Given the description of an element on the screen output the (x, y) to click on. 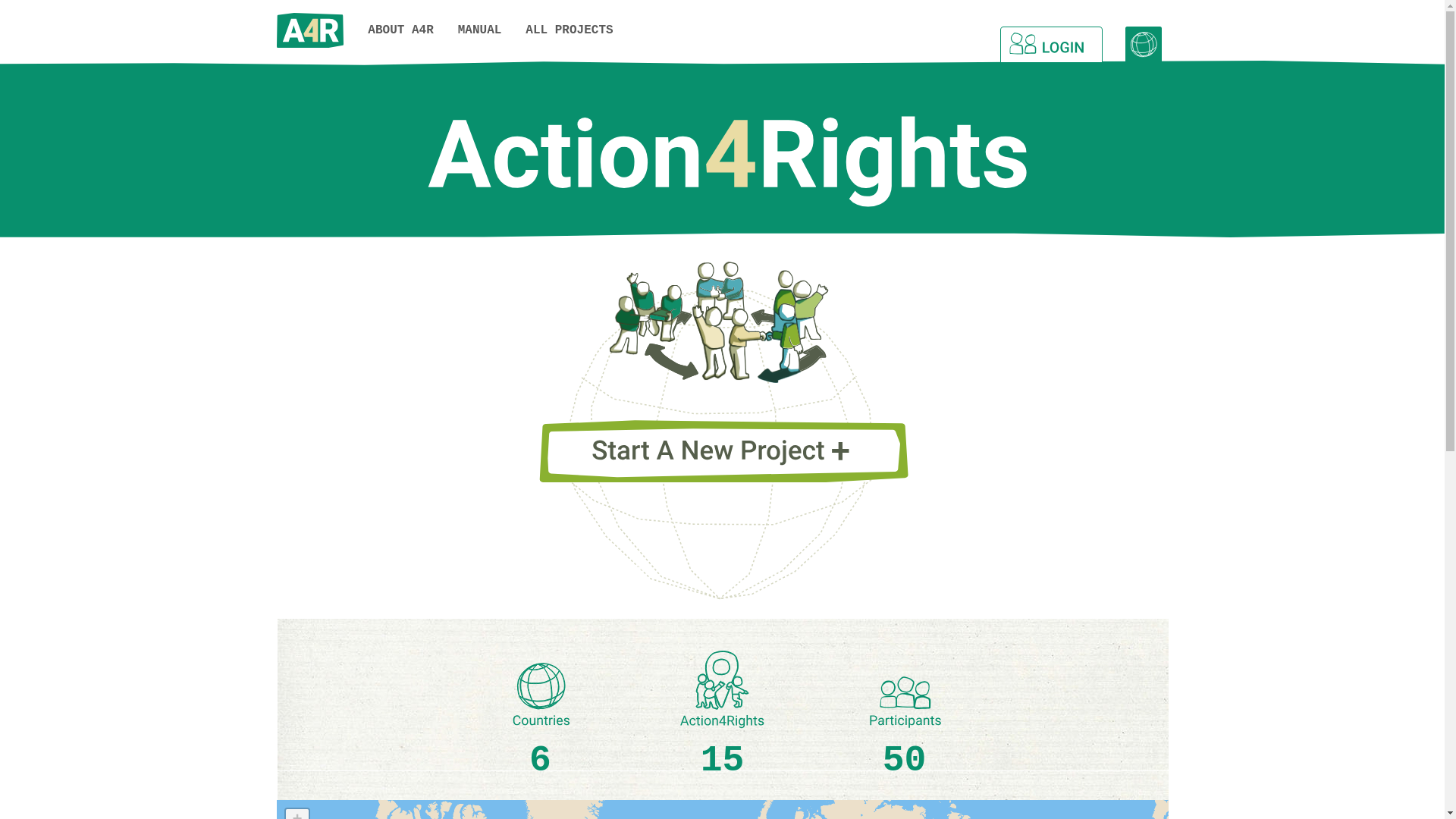
MANUAL Element type: text (479, 30)
ALL PROJECTS Element type: text (568, 30)
ABOUT A4R Element type: text (400, 30)
